Given the description of an element on the screen output the (x, y) to click on. 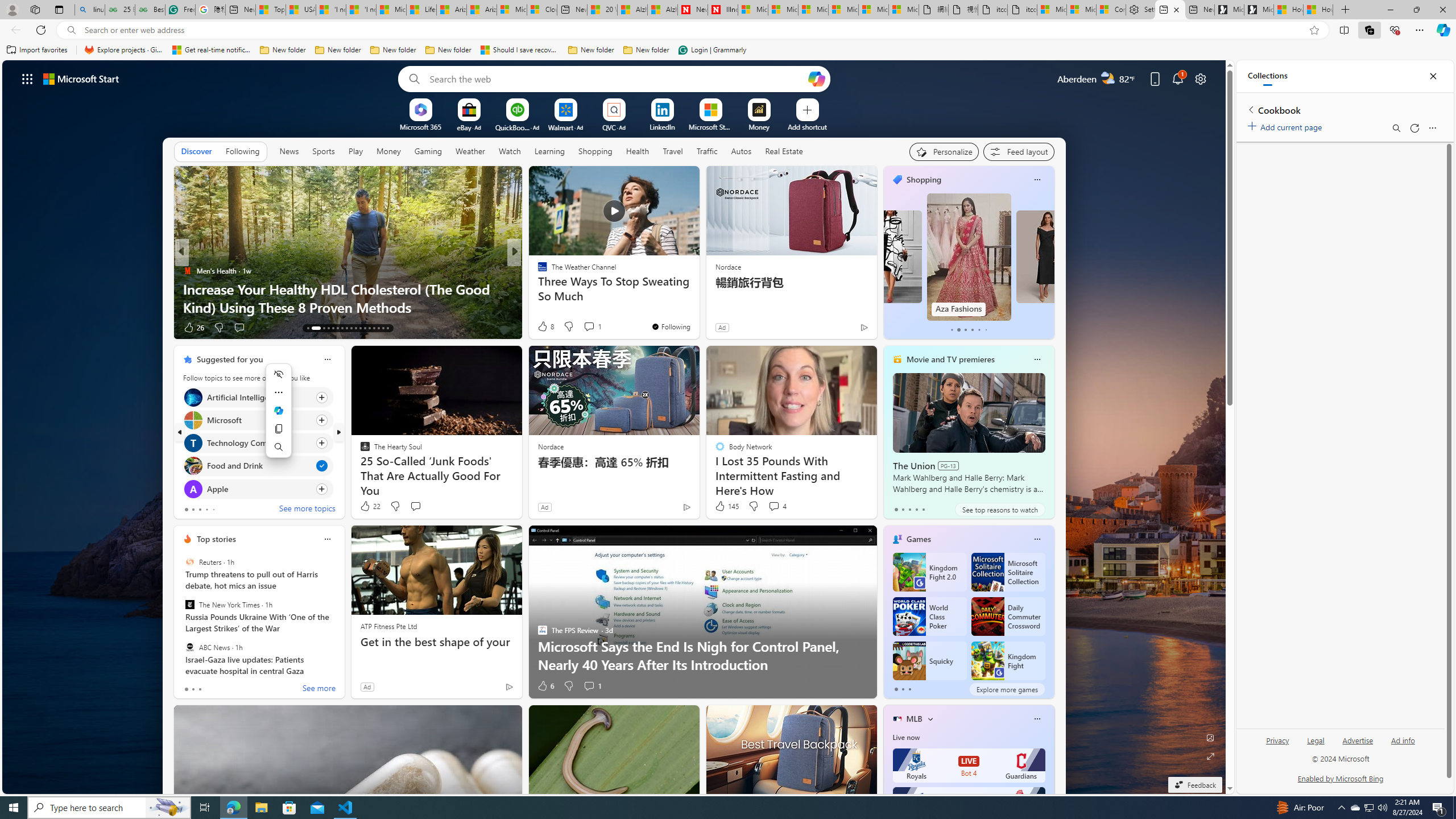
Food and Drink (192, 466)
Gaming (428, 151)
The New York Times (189, 604)
ABC News (189, 646)
Cheapism (537, 288)
The Weirdest Sea Creatures on the Ocean Floor (697, 307)
More options menu (1432, 127)
244 Like (545, 327)
View comments 10 Comment (592, 327)
Outdoor Revival (537, 288)
12 Healthy Habits That Could Help You Live Longer (697, 307)
